Given the description of an element on the screen output the (x, y) to click on. 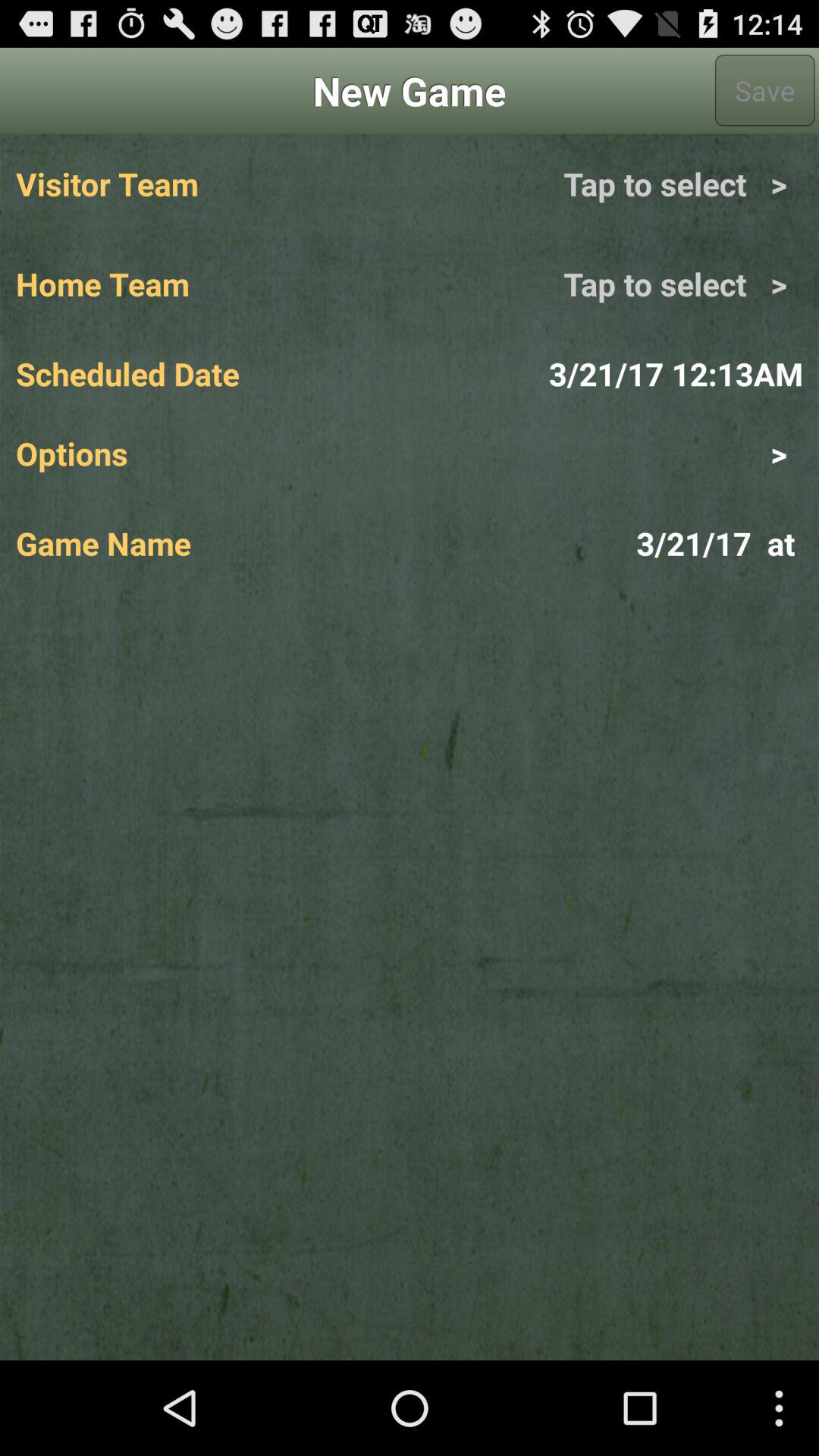
click the app to the right of new game app (764, 90)
